Given the description of an element on the screen output the (x, y) to click on. 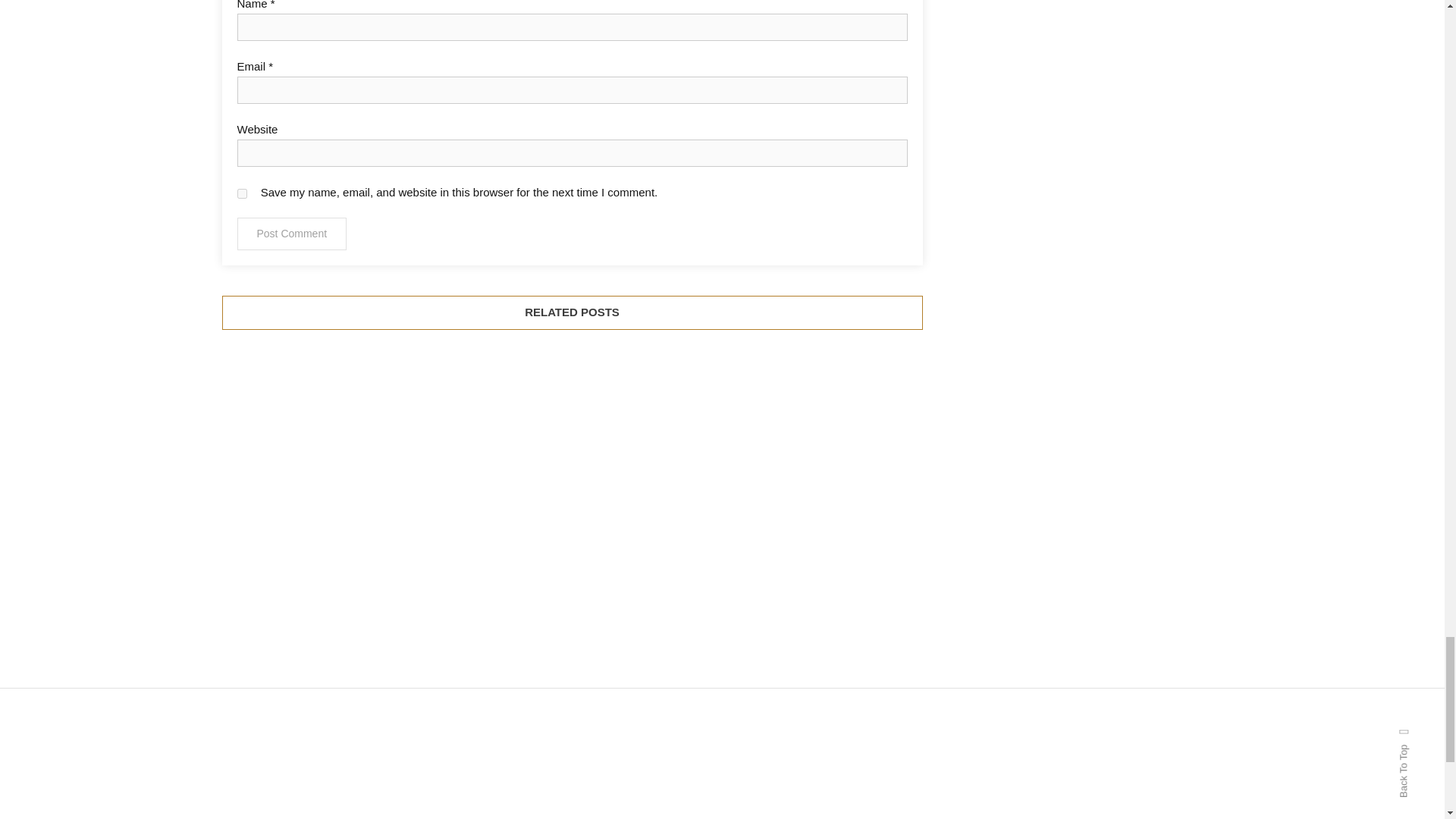
yes (240, 194)
Post Comment (290, 233)
Post Comment (290, 233)
